Given the description of an element on the screen output the (x, y) to click on. 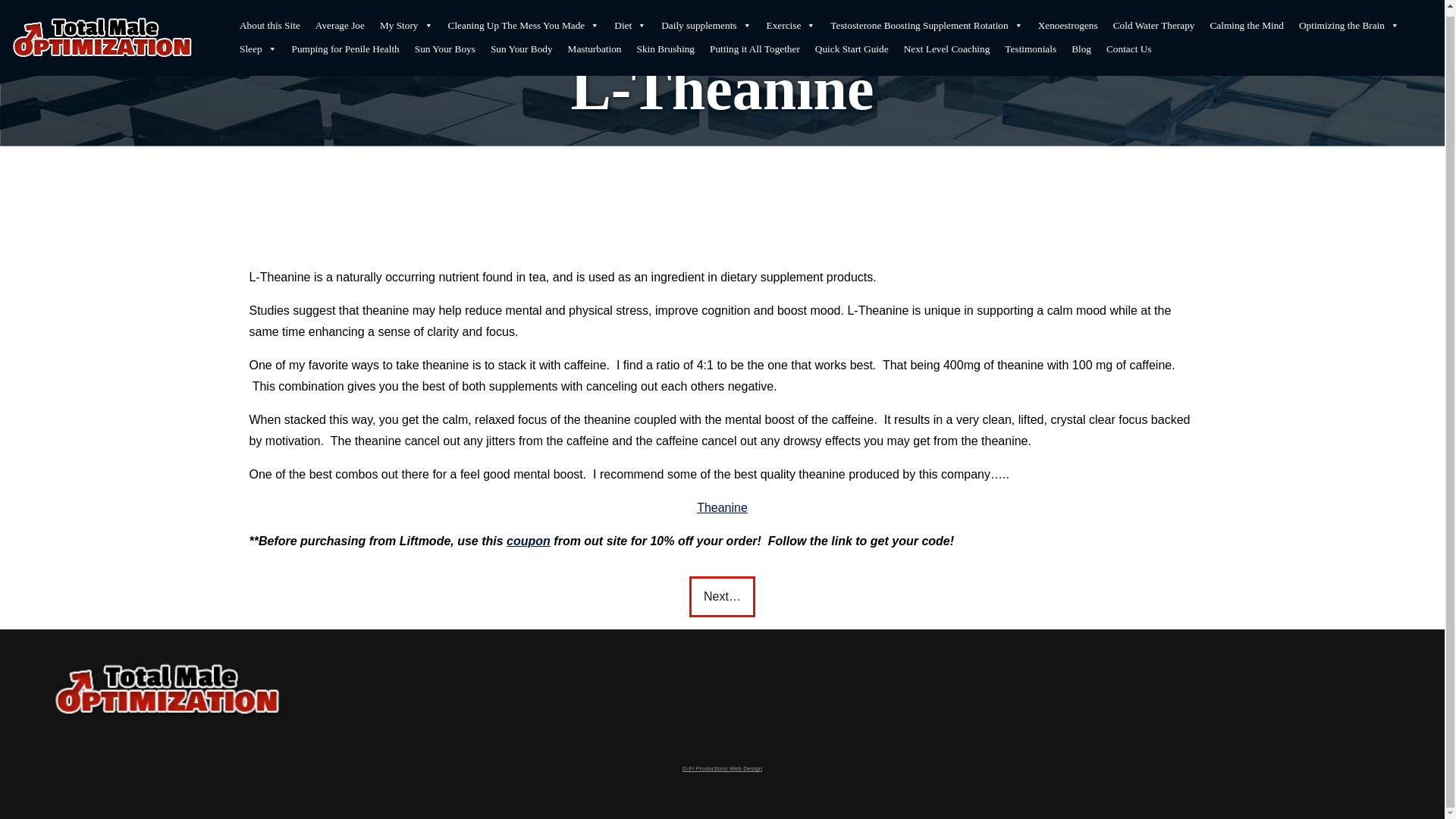
Daily supplements (705, 20)
Cleaning Up The Mess You Made (524, 20)
Testosterone Boosting Supplement Rotation (925, 20)
About this Site (269, 20)
Diet (630, 20)
Average Joe (339, 20)
My Story (406, 20)
Exercise (791, 20)
